Given the description of an element on the screen output the (x, y) to click on. 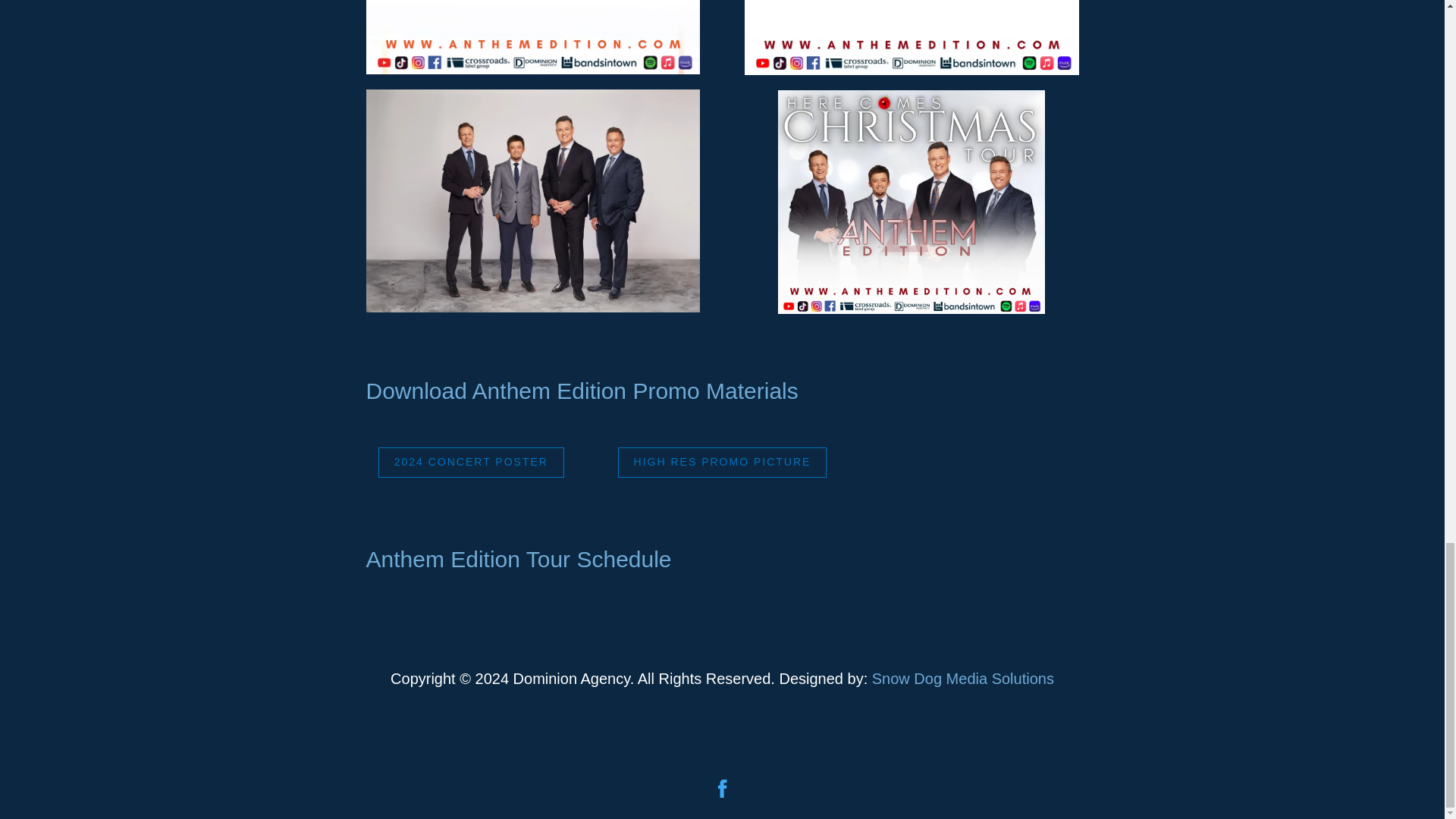
HIGH RES PROMO PICTURE (722, 462)
Snow Dog Media Solutions (963, 678)
2024 CONCERT POSTER (471, 462)
